Given the description of an element on the screen output the (x, y) to click on. 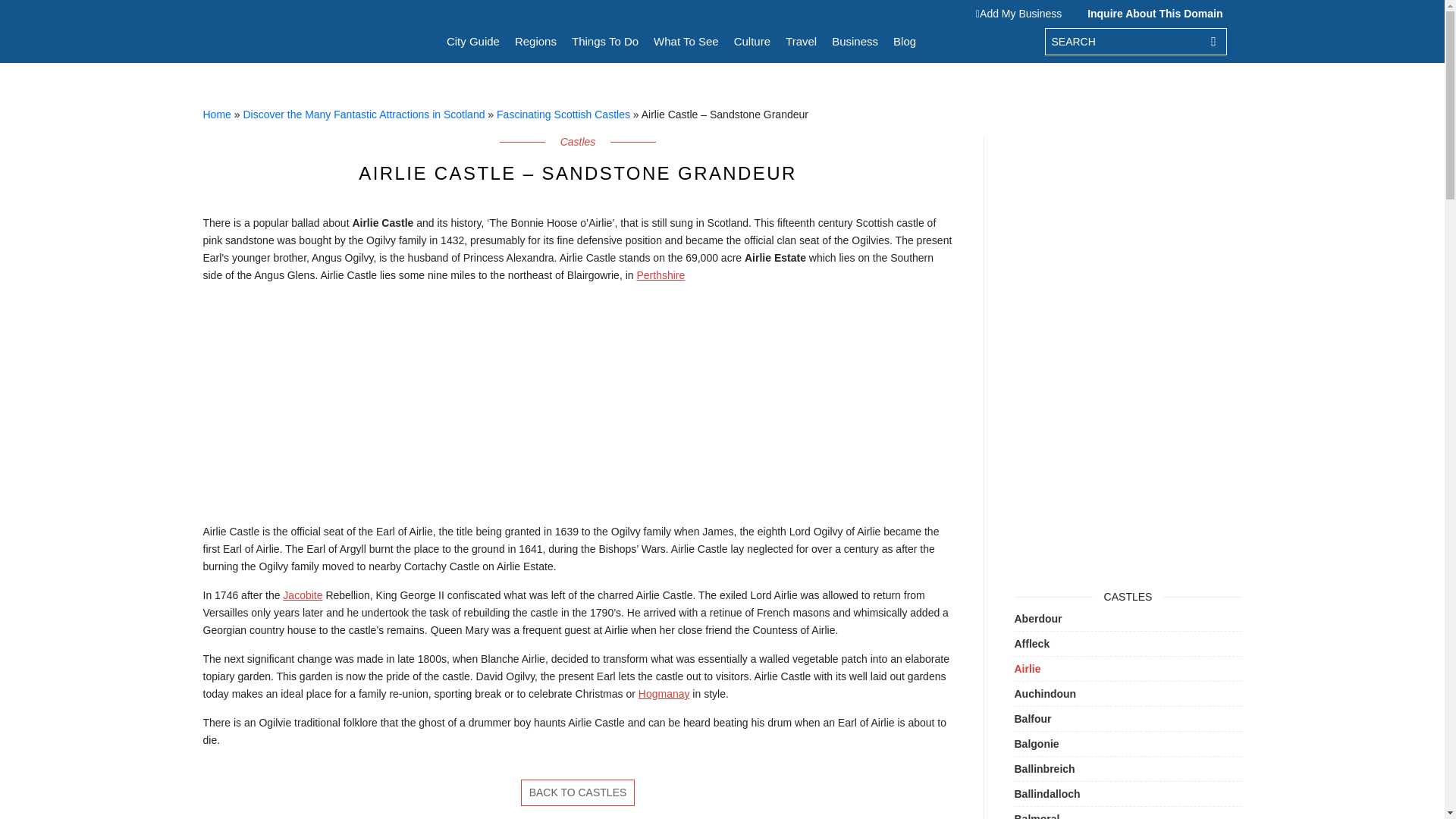
Hogmanay in Scotland (664, 693)
What To See (686, 41)
The Jacobite Steam Train (301, 594)
Perthshire (660, 275)
City Guide (472, 41)
Things To Do (605, 41)
Add My Business (1021, 13)
Travel (801, 41)
Inquire About This Domain (1150, 13)
Regions (535, 41)
